Given the description of an element on the screen output the (x, y) to click on. 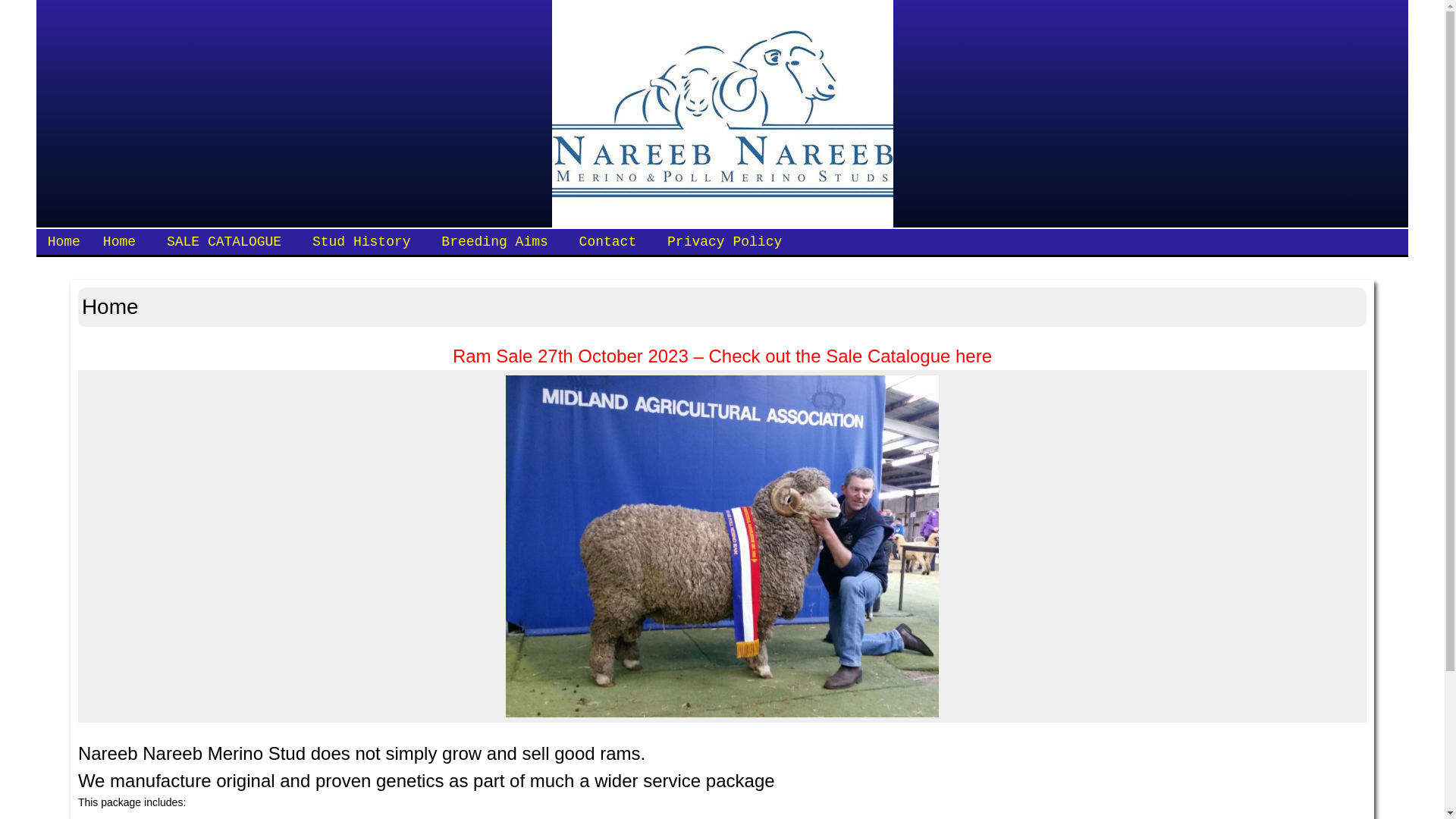
SALE CATALOGUE Element type: text (224, 241)
Privacy Policy Element type: text (724, 241)
Contact Element type: text (607, 241)
Home Element type: text (119, 241)
Breeding Aims Element type: text (494, 241)
Stud History Element type: text (361, 241)
Nareeb Nareeb Element type: hover (722, 113)
Home Element type: text (63, 241)
